Given the description of an element on the screen output the (x, y) to click on. 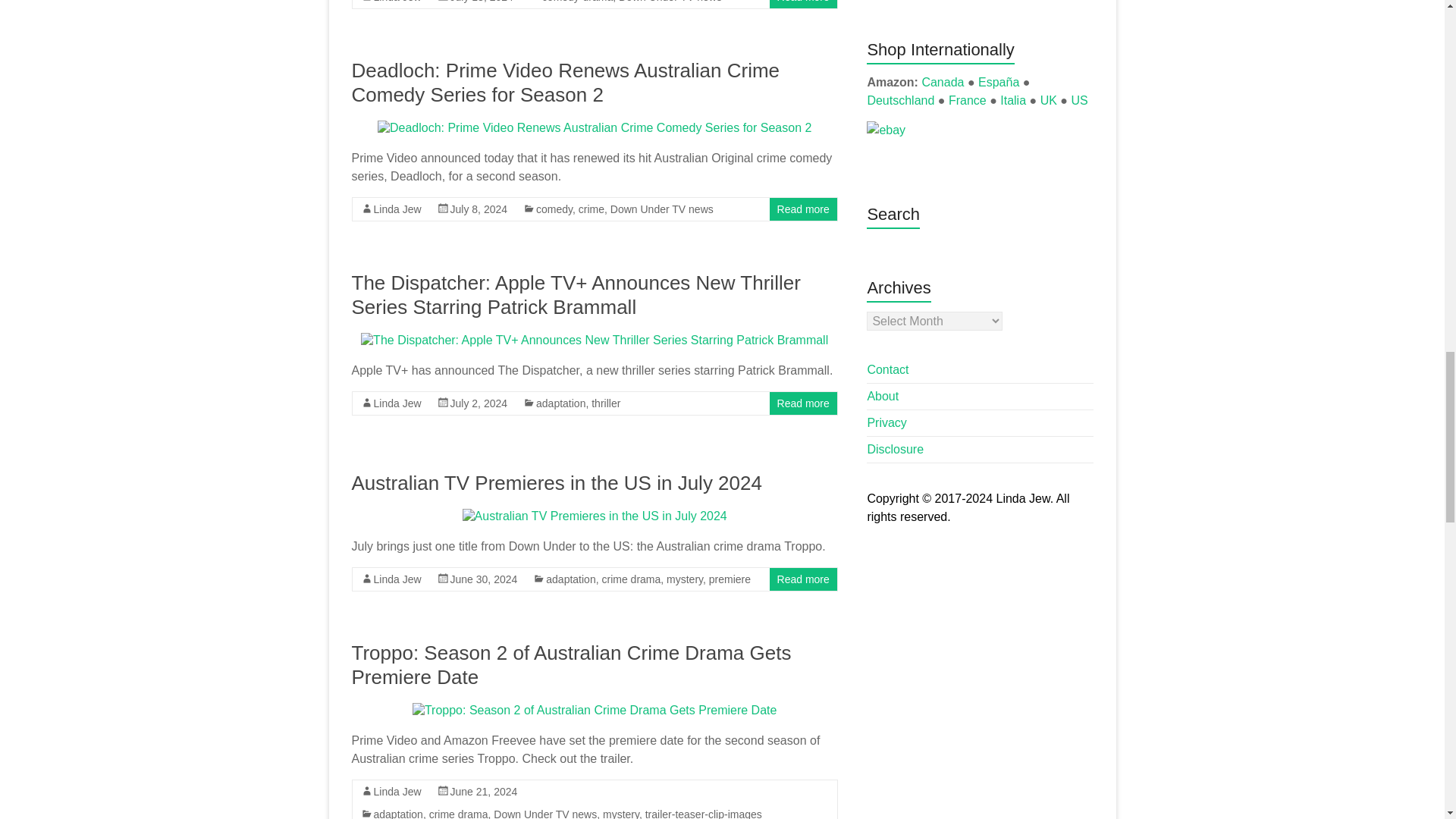
comedy-drama (576, 1)
July 8, 2024 (478, 209)
July 18, 2024 (481, 1)
Down Under TV news (670, 1)
Linda Jew (396, 1)
Linda Jew (396, 209)
Read more (803, 1)
